Given the description of an element on the screen output the (x, y) to click on. 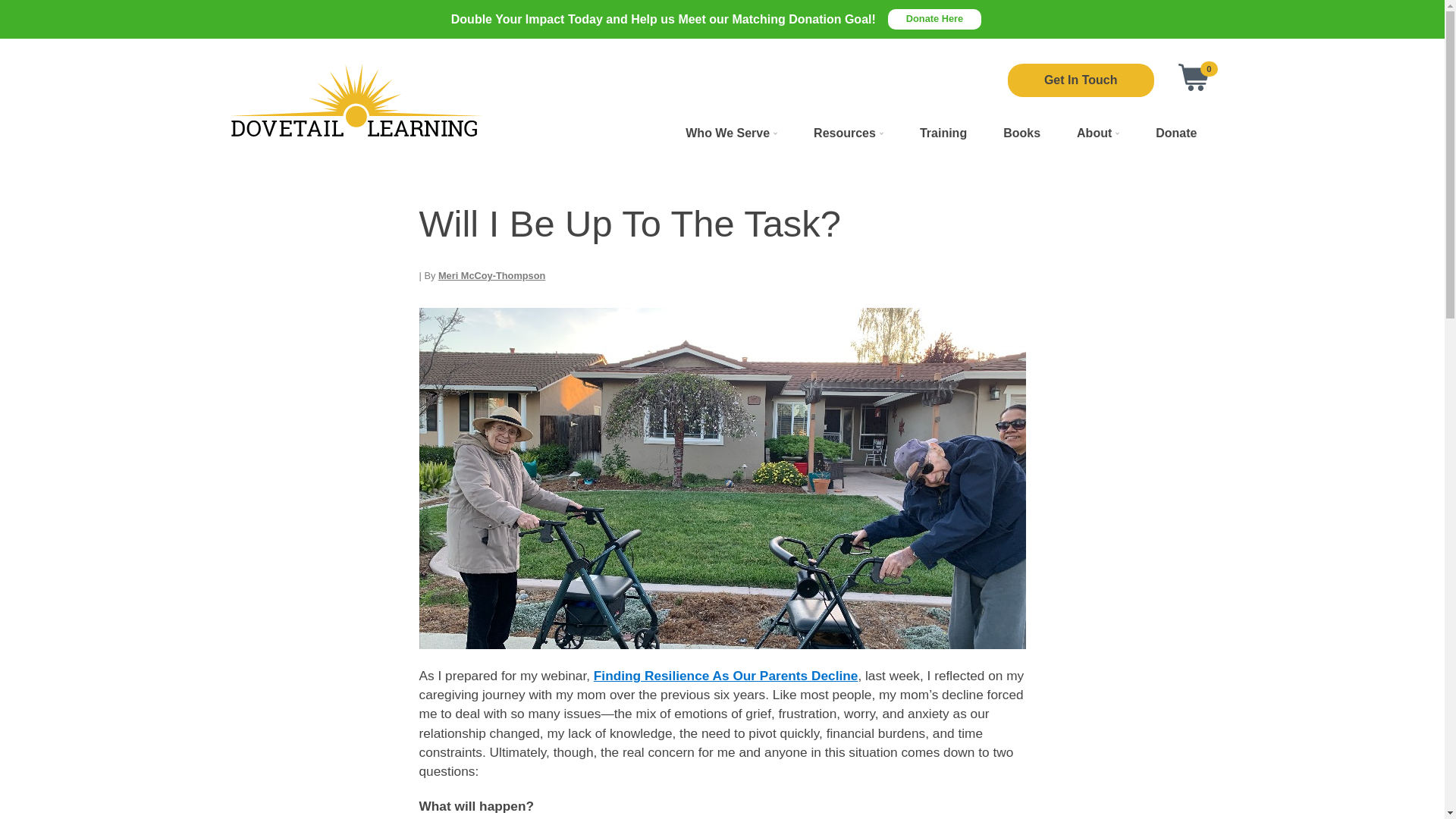
Resources (847, 132)
About (1097, 132)
Who We Serve (730, 132)
Donate (1175, 132)
Finding Resilience As Our Parents Decline (726, 675)
Books (1021, 132)
Training (943, 132)
Cart (1193, 76)
Get In Touch (1080, 80)
Meri McCoy-Thompson (491, 275)
Donate Here (934, 19)
Cart (1193, 76)
